Given the description of an element on the screen output the (x, y) to click on. 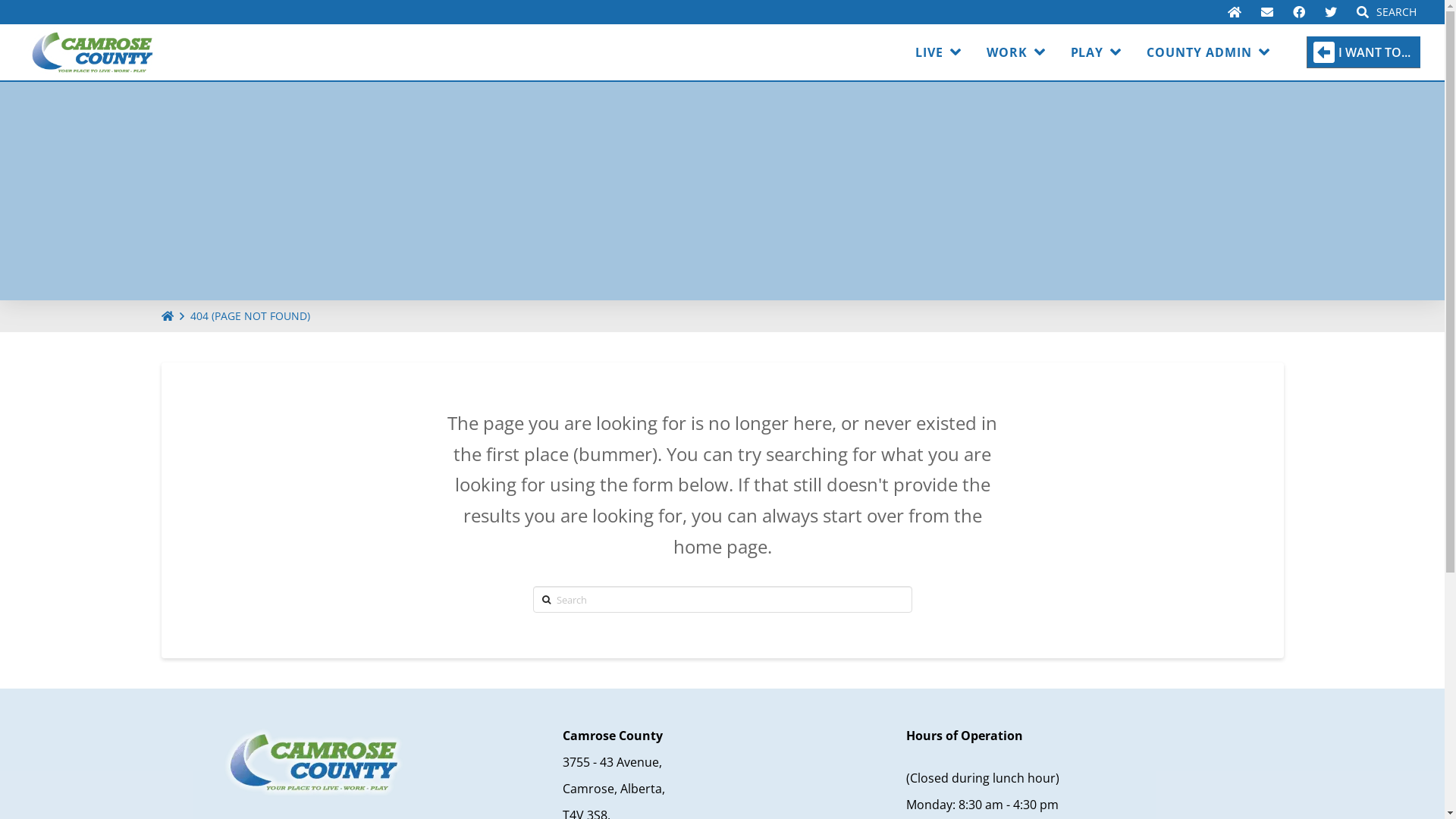
LIVE Element type: text (937, 52)
WORK Element type: text (1015, 52)
HOME Element type: text (166, 316)
PLAY Element type: text (1095, 52)
COUNTY ADMIN Element type: text (1207, 52)
404 (PAGE NOT FOUND) Element type: text (249, 316)
